Given the description of an element on the screen output the (x, y) to click on. 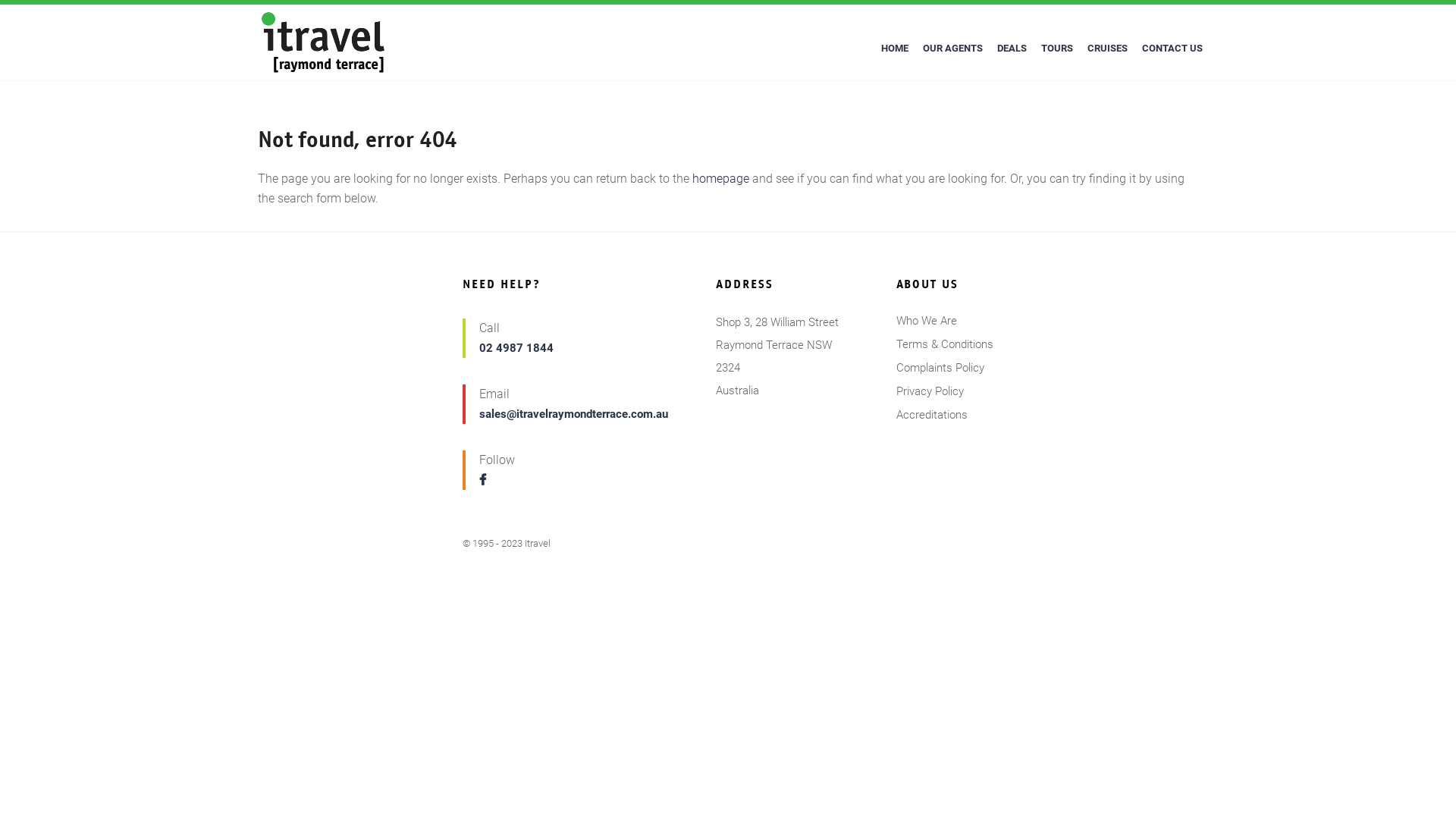
Skip to main content Element type: text (0, 0)
02 4987 1844 Element type: text (516, 347)
Terms & Conditions Element type: text (944, 344)
CRUISES Element type: text (1107, 47)
Who We Are Element type: text (926, 320)
Accreditations Element type: text (931, 414)
TOURS Element type: text (1056, 47)
Privacy Policy Element type: text (929, 391)
sales@itravelraymondterrace.com.au Element type: text (573, 413)
OUR AGENTS Element type: text (952, 47)
Complaints Policy Element type: text (940, 367)
DEALS Element type: text (1011, 47)
CONTACT US Element type: text (1172, 47)
itravelraymondterrace.com.au-logo Element type: hover (322, 42)
homepage Element type: text (720, 178)
HOME Element type: text (894, 47)
